Given the description of an element on the screen output the (x, y) to click on. 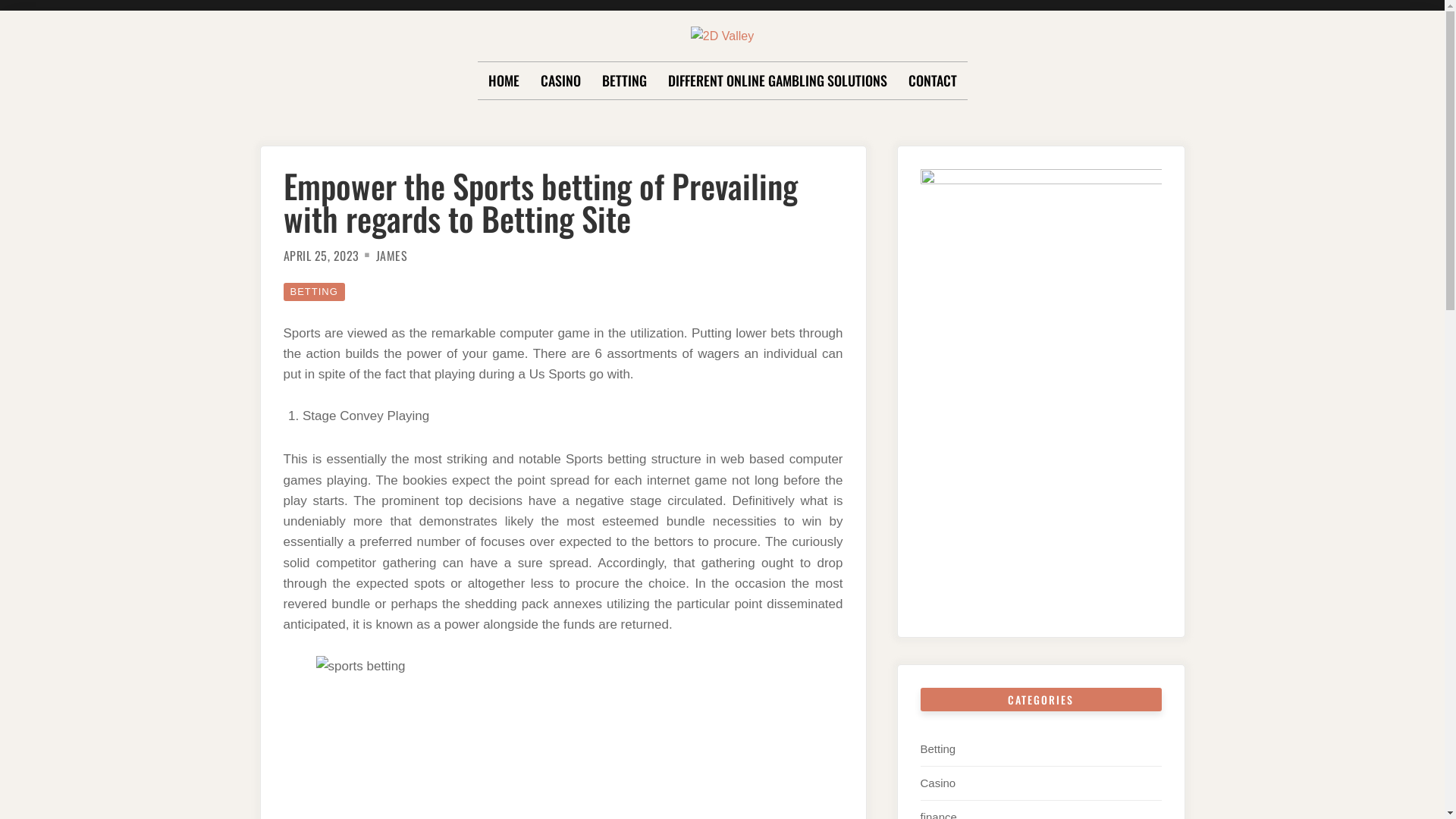
BETTING Element type: text (314, 291)
Betting Element type: text (938, 748)
HOME Element type: text (503, 81)
Casino Element type: text (938, 782)
BETTING Element type: text (624, 81)
CONTACT Element type: text (932, 81)
JAMES Element type: text (391, 255)
APRIL 25, 2023 Element type: text (321, 255)
CASINO Element type: text (559, 81)
DIFFERENT ONLINE GAMBLING SOLUTIONS Element type: text (776, 81)
